Given the description of an element on the screen output the (x, y) to click on. 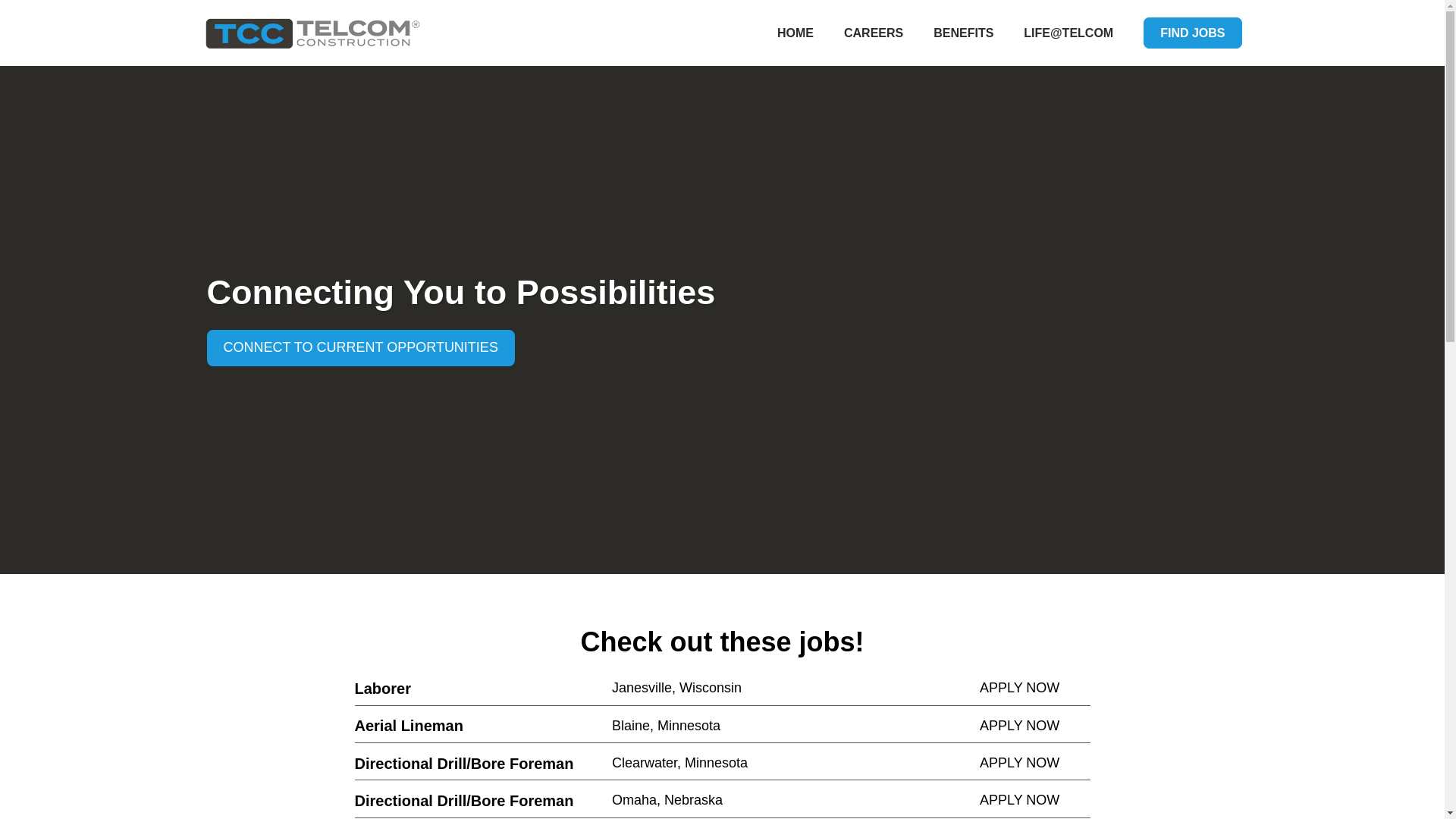
APPLY NOW (1034, 725)
CONNECT TO CURRENT OPPORTUNITIES (359, 347)
Laborer (483, 688)
Aerial Lineman (483, 725)
FIND JOBS (1191, 32)
APPLY NOW (1034, 687)
APPLY NOW (1034, 763)
HOME (795, 32)
APPLY NOW (1034, 800)
CAREERS (873, 32)
BENEFITS (962, 32)
